Given the description of an element on the screen output the (x, y) to click on. 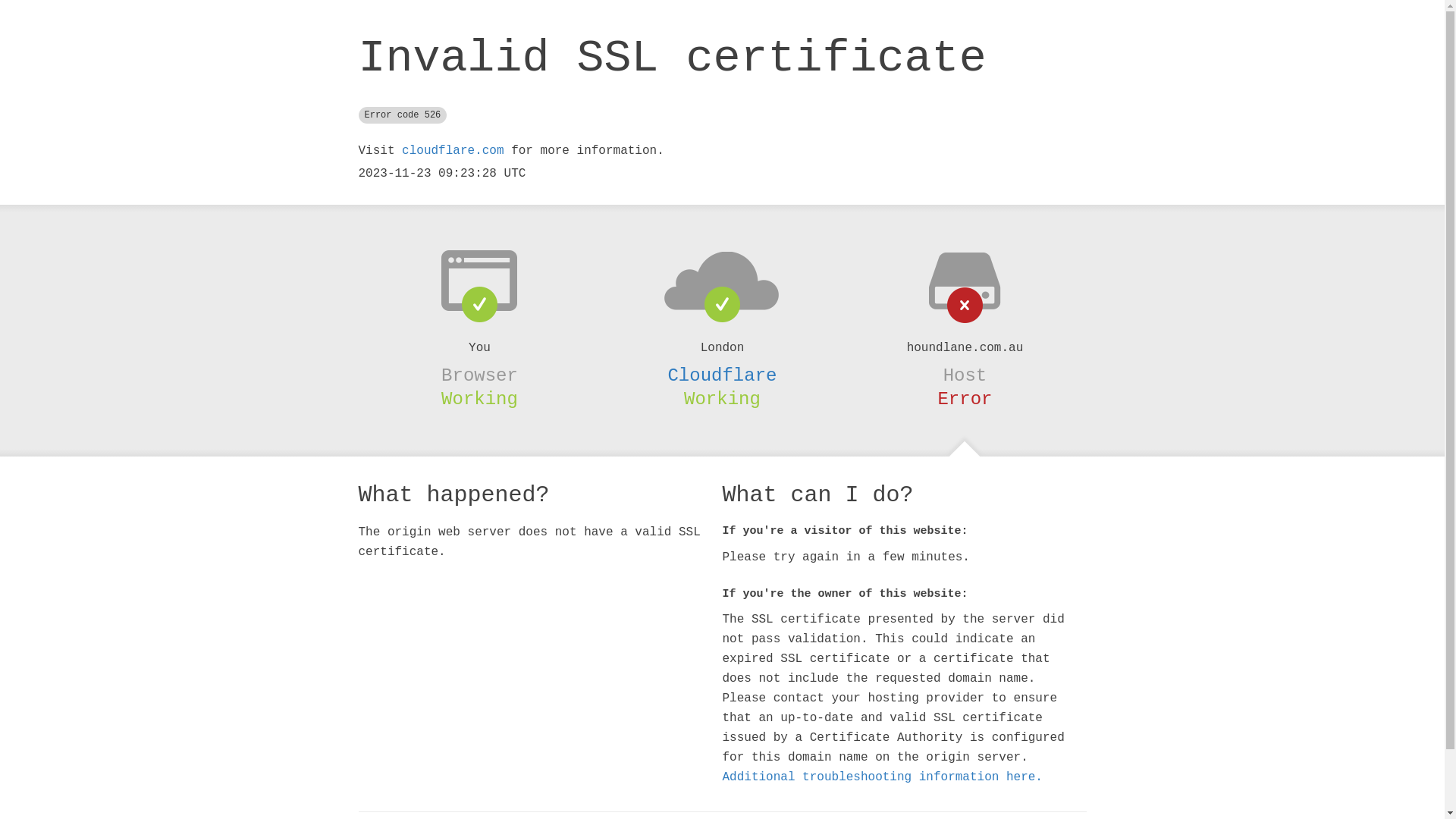
Additional troubleshooting information here. Element type: text (881, 777)
Cloudflare Element type: text (721, 375)
cloudflare.com Element type: text (452, 150)
